Given the description of an element on the screen output the (x, y) to click on. 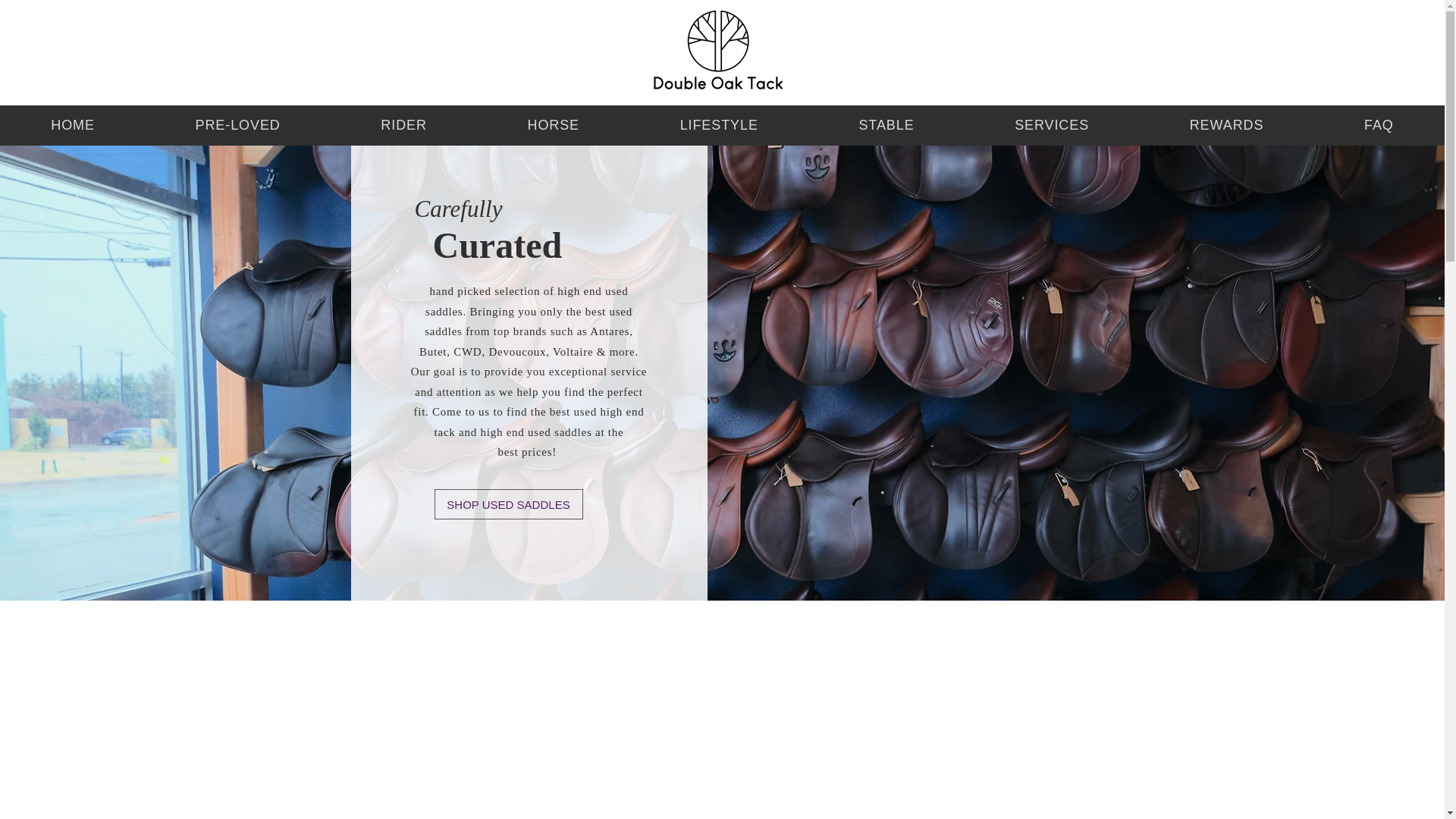
HOME (72, 124)
FAQ (1379, 124)
REWARDS (1225, 124)
SHOP USED SADDLES (507, 503)
SERVICES (1052, 124)
